Given the description of an element on the screen output the (x, y) to click on. 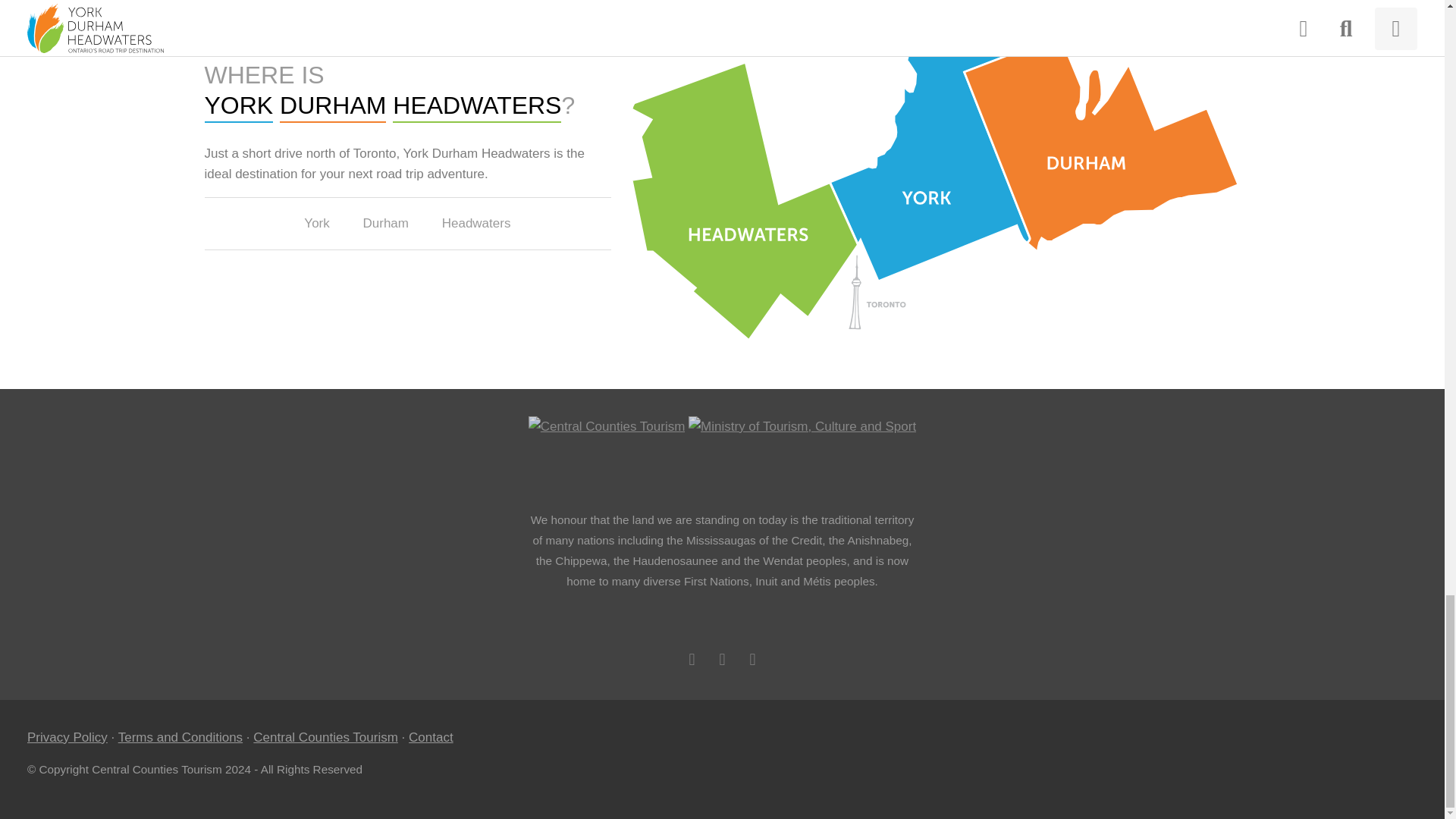
Visit our Youtube channel (722, 659)
Instagram (752, 659)
Visit us on Facebook (691, 659)
